Given the description of an element on the screen output the (x, y) to click on. 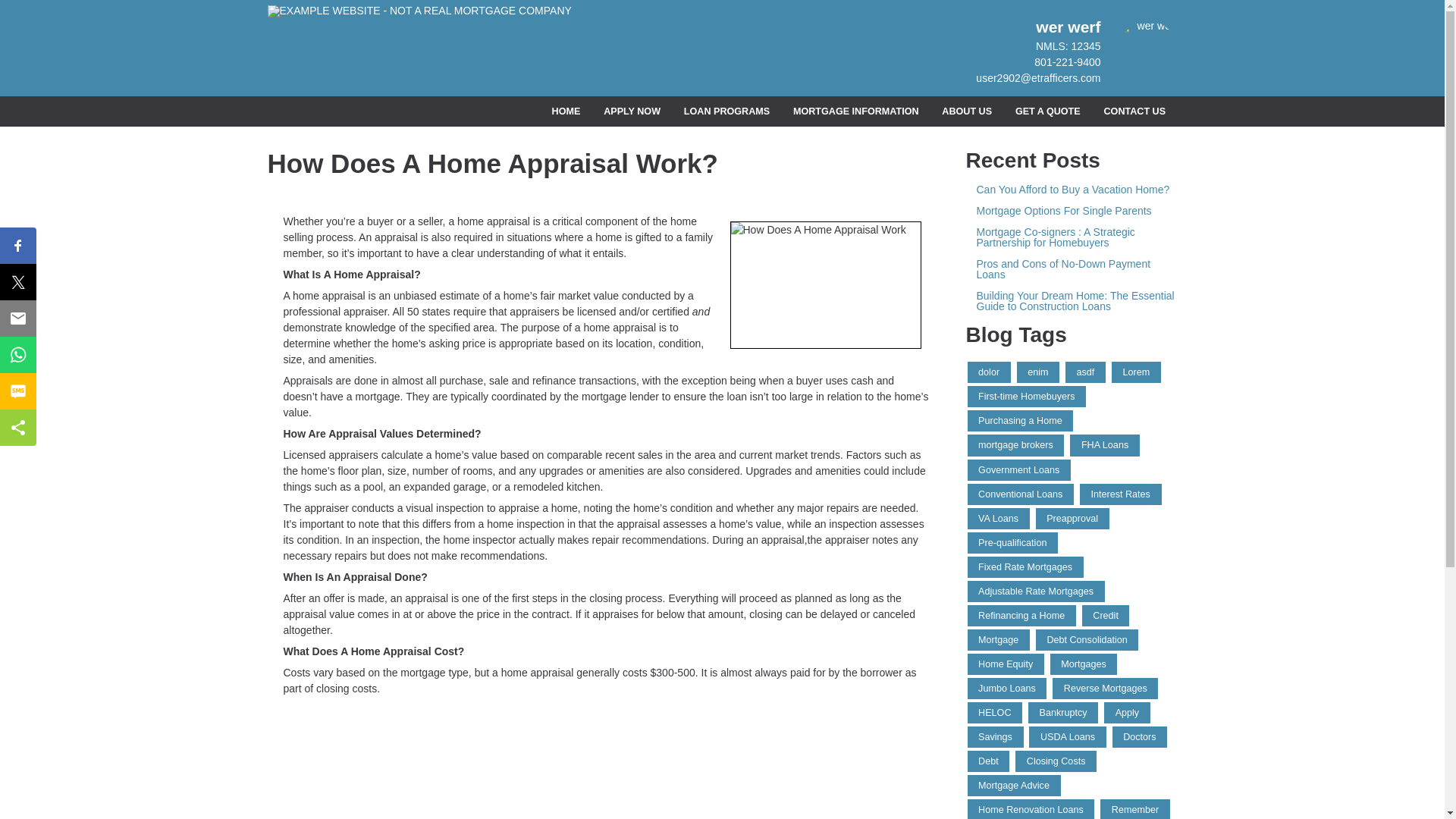
GET A QUOTE (1047, 111)
Can You Afford to Buy a Vacation Home? (1071, 189)
Mortgage Options For Single Parents (1071, 210)
MORTGAGE INFORMATION (855, 111)
HOME (566, 111)
Pros and Cons of No-Down Payment Loans (1071, 269)
Mortgage Co-signers : A Strategic Partnership for Homebuyers (1071, 237)
ABOUT US (967, 111)
APPLY NOW (632, 111)
LOAN PROGRAMS (725, 111)
CONTACT US (1134, 111)
801-221-9400 (1066, 61)
